Given the description of an element on the screen output the (x, y) to click on. 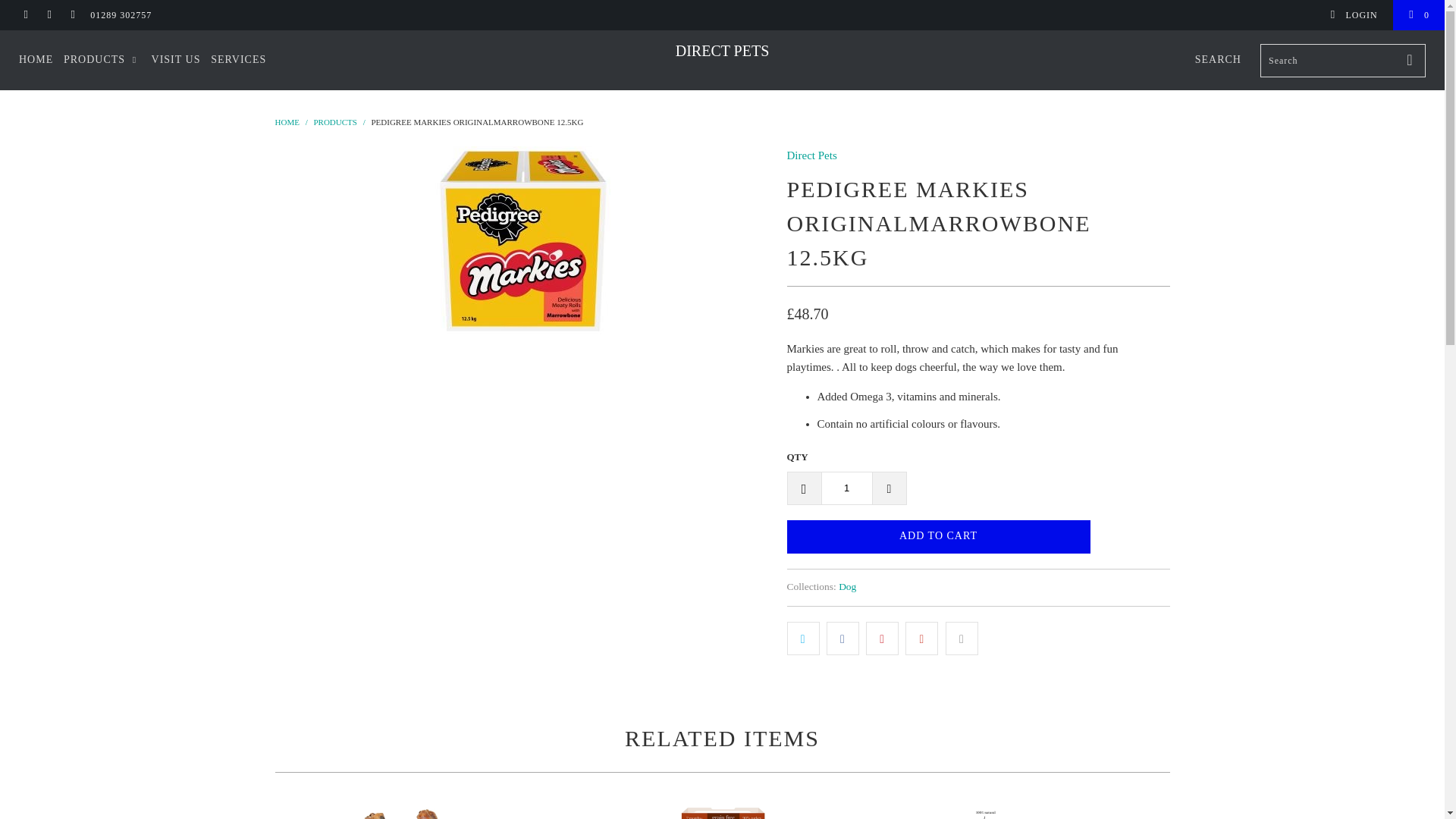
Dog (847, 586)
Direct Pets on Facebook (25, 14)
Direct Pets (812, 155)
Share this on Twitter (803, 638)
Direct Pets (722, 50)
My Account  (1352, 15)
Email this to a friend (961, 638)
Email Direct Pets (71, 14)
Direct Pets (286, 121)
Direct Pets on Instagram (48, 14)
